Given the description of an element on the screen output the (x, y) to click on. 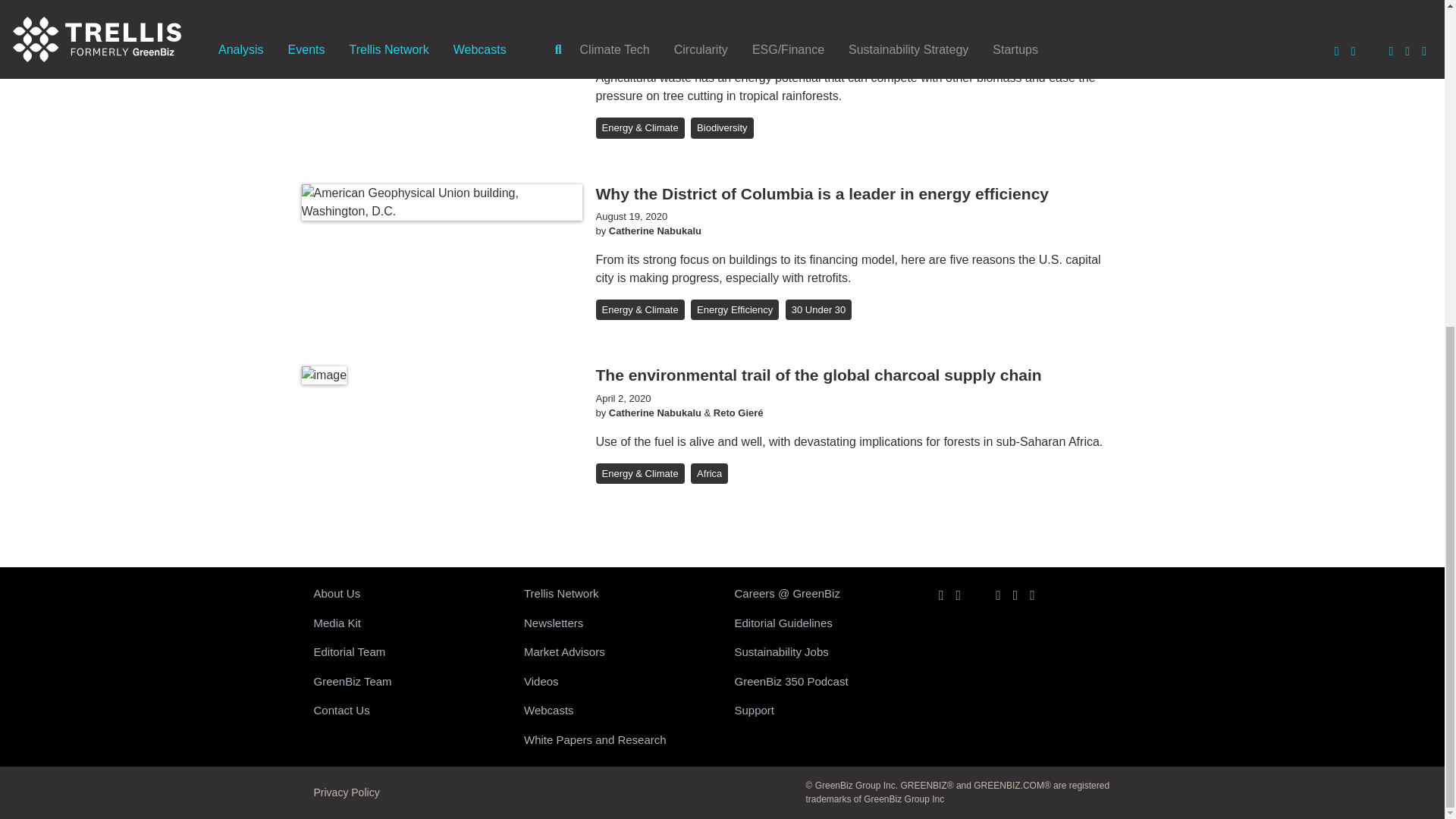
Catherine Nabukalu (654, 49)
The environmental trail of the global charcoal supply chain (818, 375)
Catherine Nabukalu (654, 412)
Energy Efficiency (734, 310)
30 Under 30 (818, 310)
This is a footer link. (406, 681)
Information on GreenBiz Peer Network Offerings (617, 594)
